Given the description of an element on the screen output the (x, y) to click on. 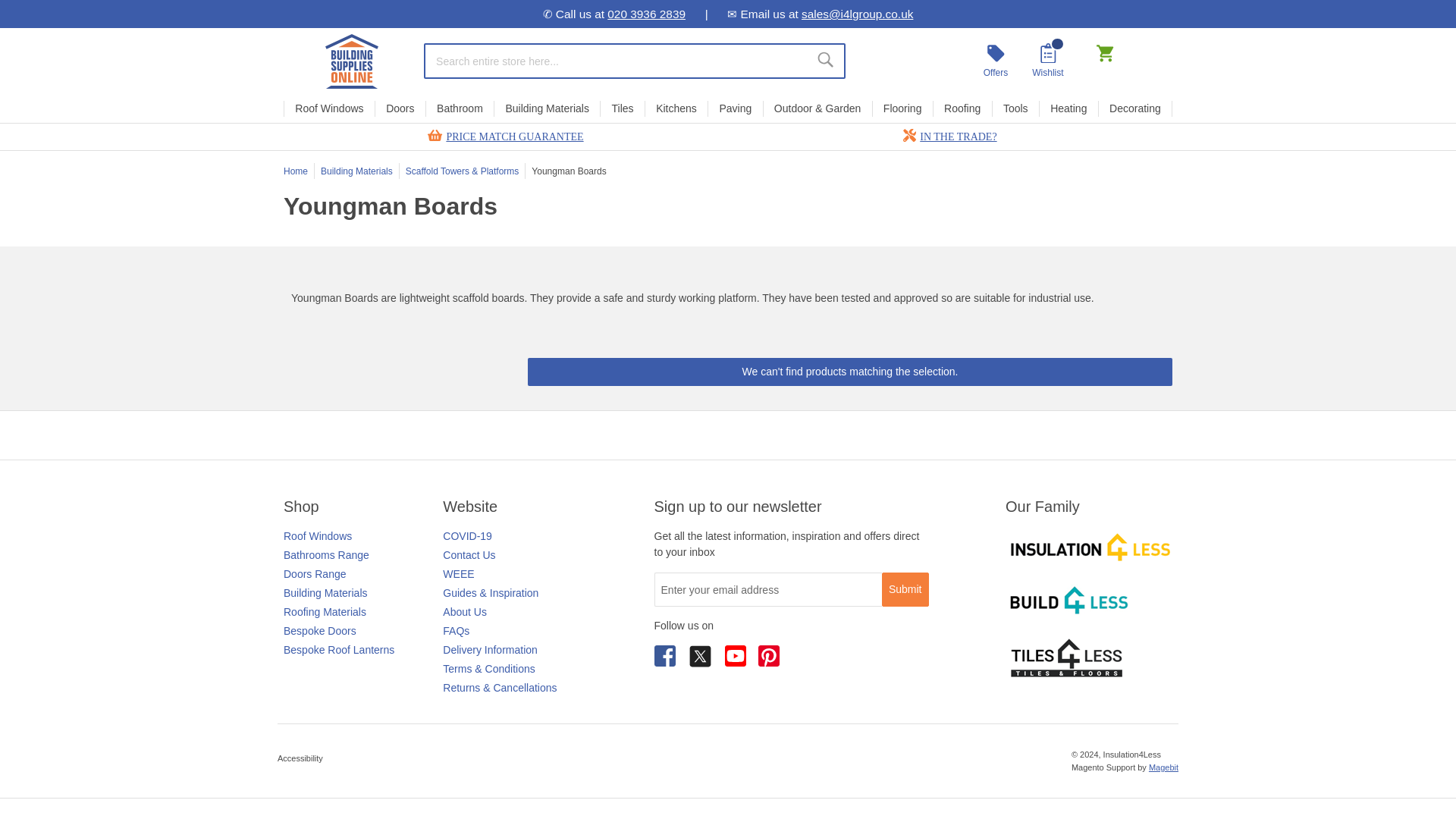
020 3936 2839 (646, 13)
Wishlist (1047, 61)
Go to Home Page (295, 171)
Submit (905, 589)
Offers (995, 61)
Roof Windows (329, 108)
Home (351, 61)
